Given the description of an element on the screen output the (x, y) to click on. 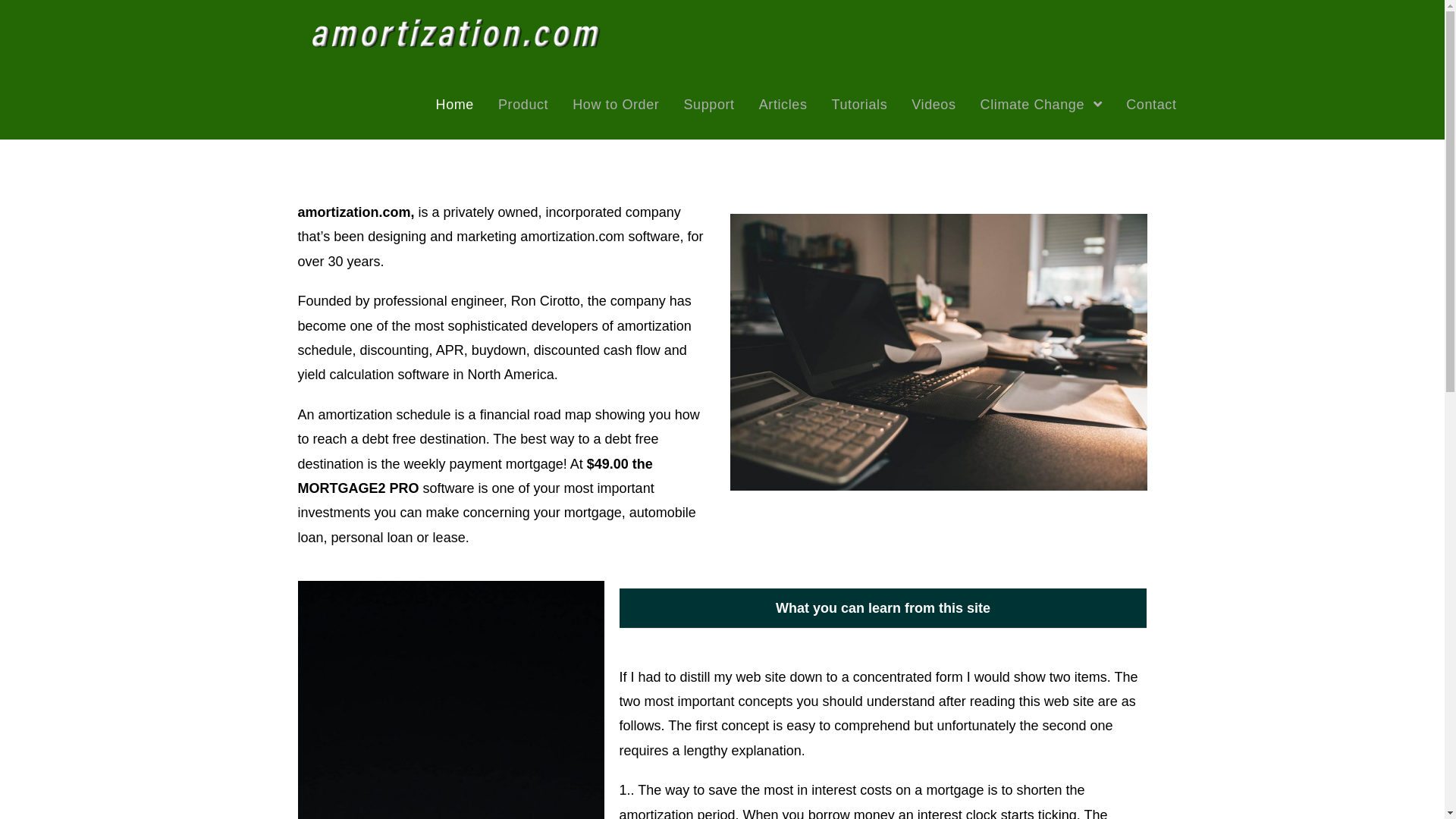
Product Element type: text (523, 104)
How to Order Element type: text (615, 104)
Videos Element type: text (933, 104)
Support Element type: text (708, 104)
Tutorials Element type: text (859, 104)
Articles Element type: text (782, 104)
Contact Element type: text (1150, 104)
Climate Change Element type: text (1041, 104)
Home Element type: text (454, 104)
